Given the description of an element on the screen output the (x, y) to click on. 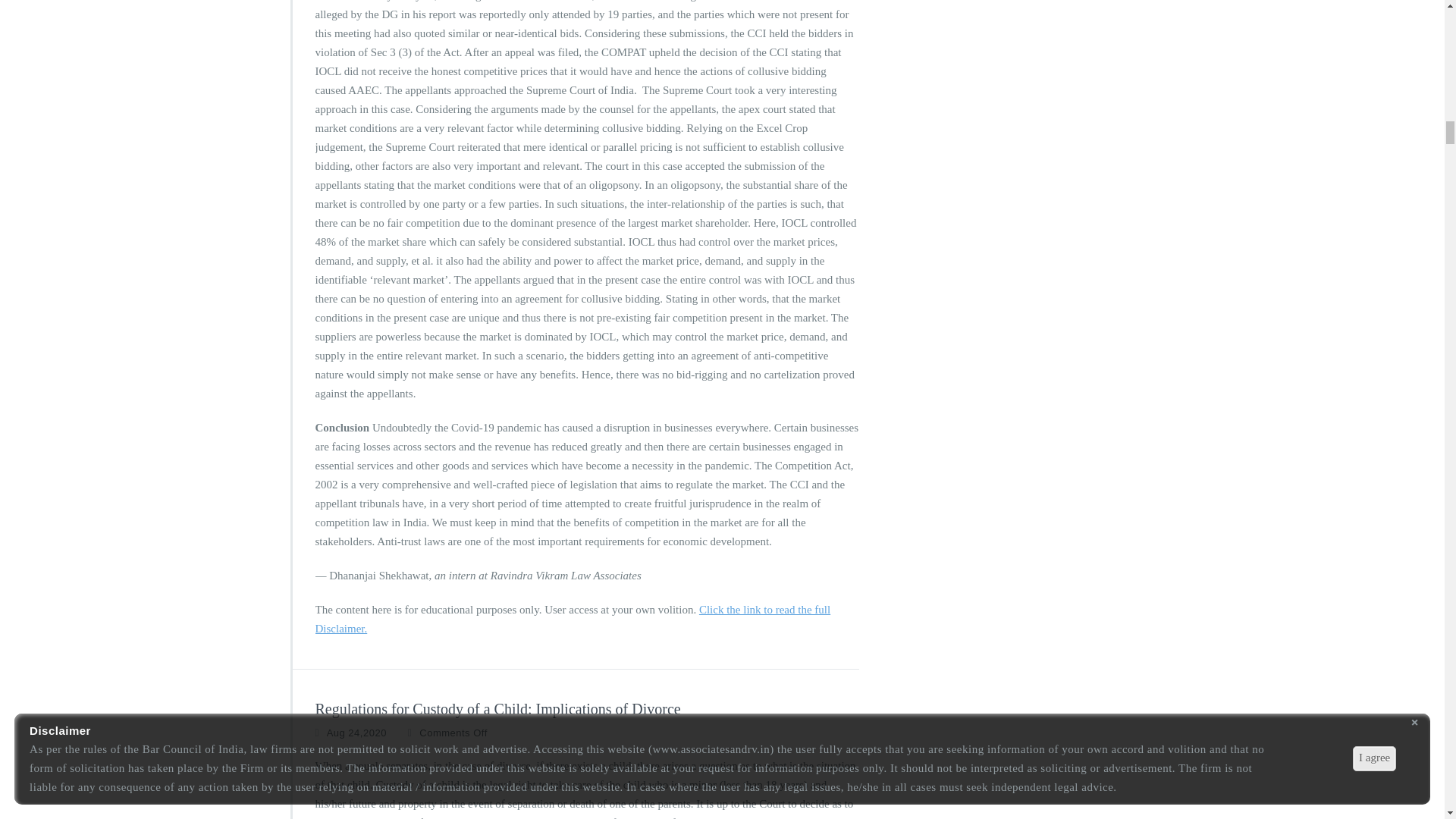
Regulations for Custody of a Child: Implications of Divorce (498, 709)
Aug 24,2020 (356, 733)
Click the link to read the full Disclaimer. (573, 618)
